Given the description of an element on the screen output the (x, y) to click on. 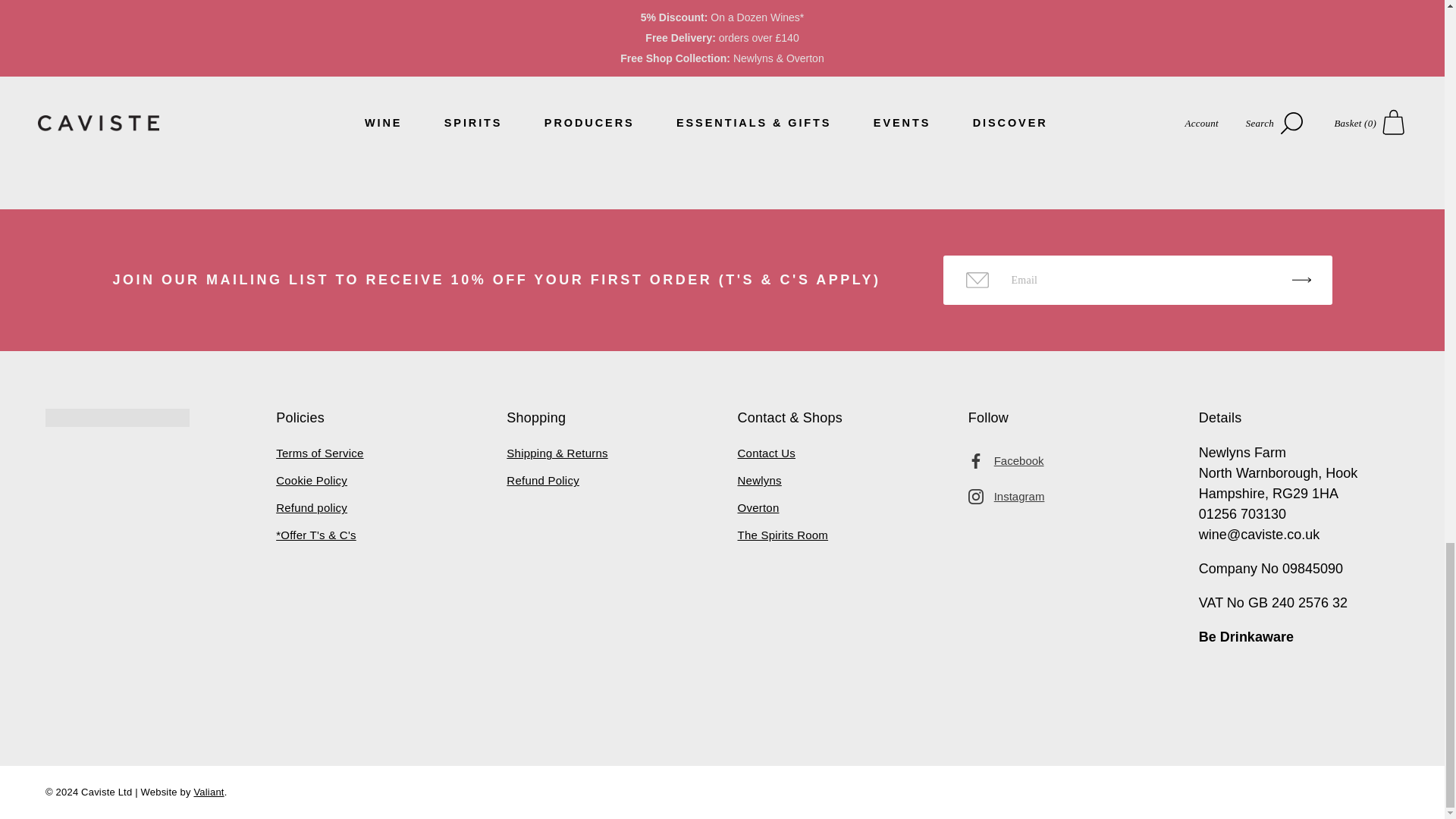
Drinkaware UK Link (1246, 636)
